Given the description of an element on the screen output the (x, y) to click on. 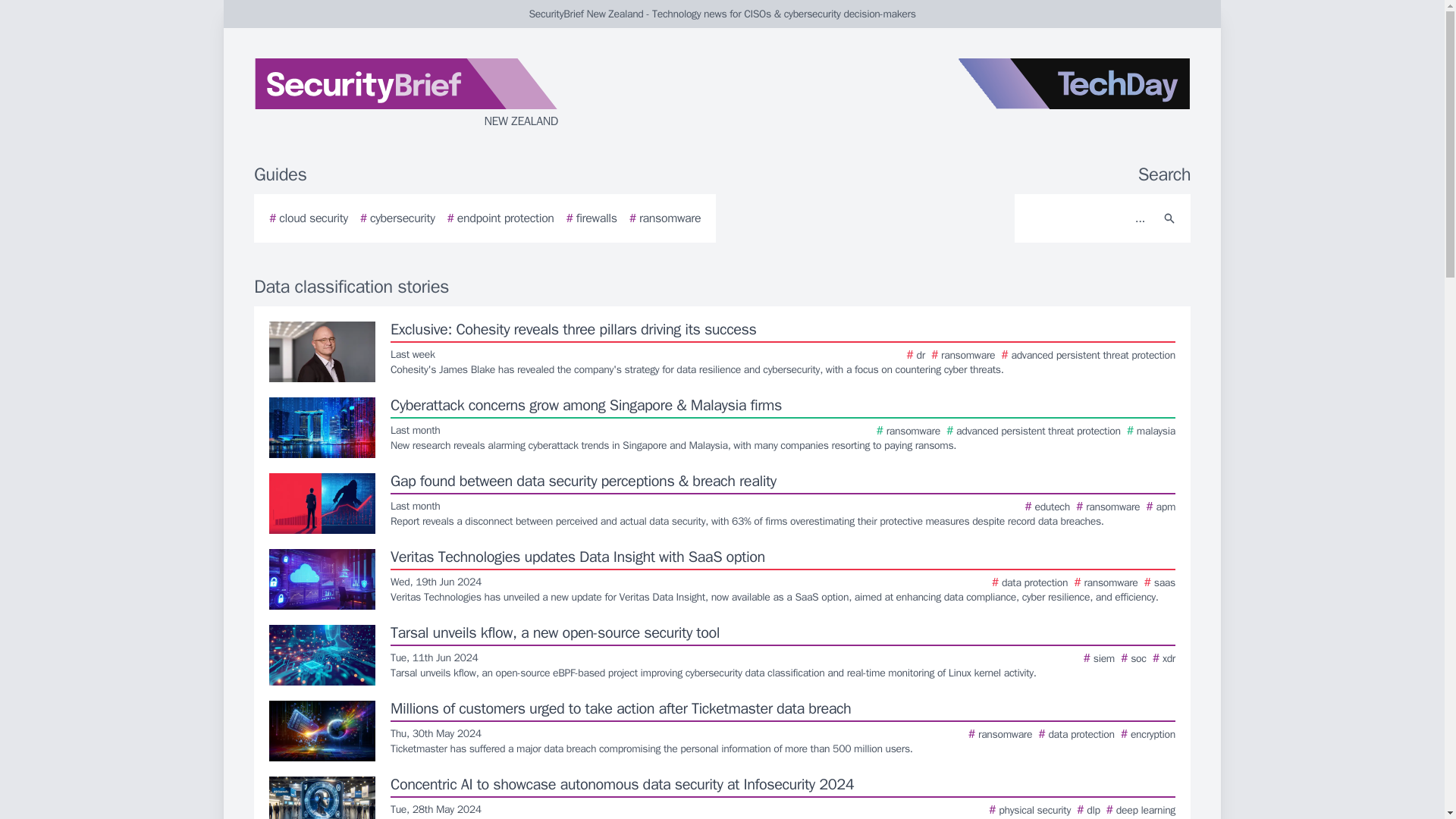
NEW ZEALAND (435, 94)
